Given the description of an element on the screen output the (x, y) to click on. 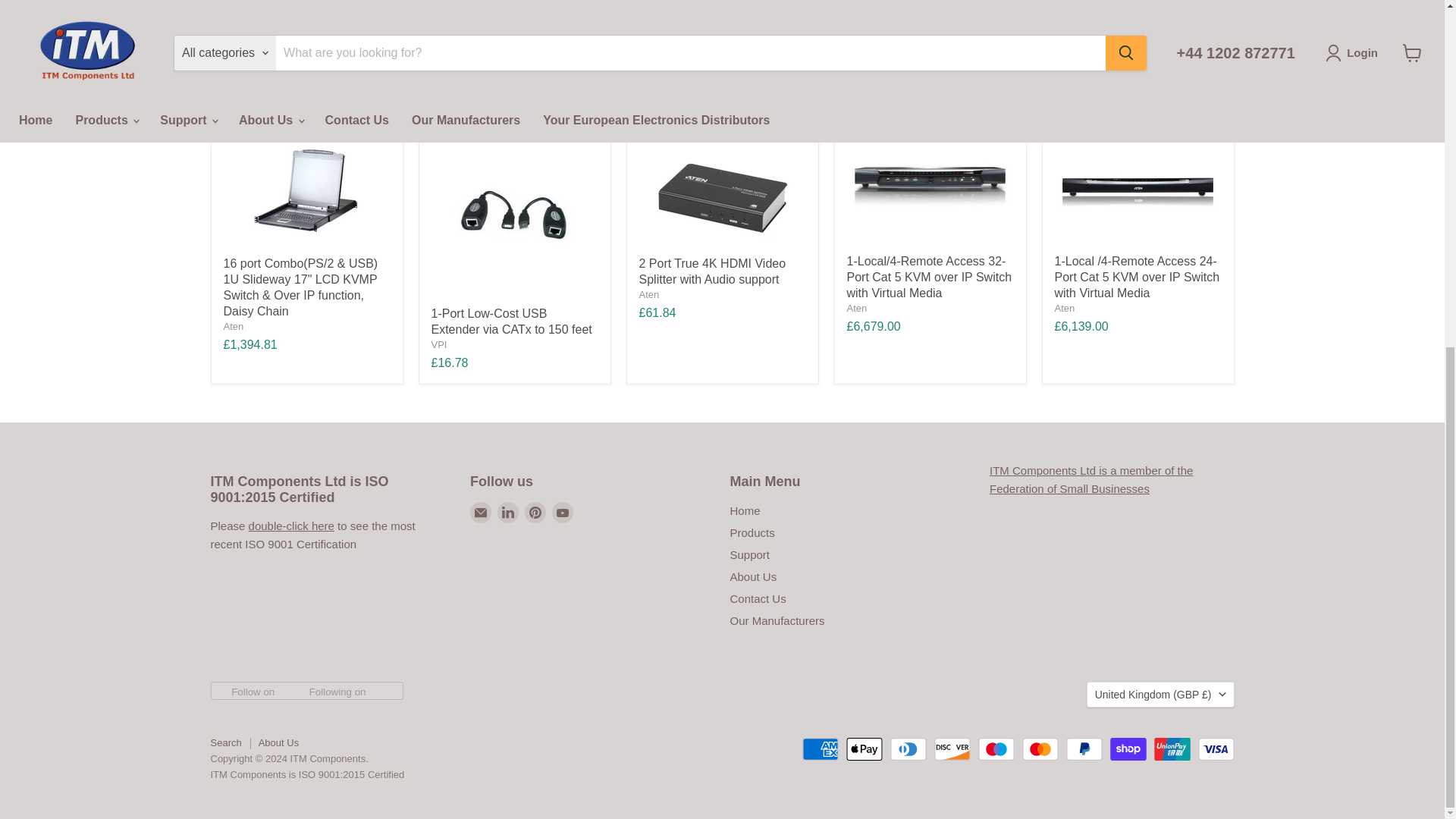
Aten (649, 294)
Aten (1064, 307)
ISO (291, 525)
VPI (438, 344)
Aten (855, 307)
Aten (232, 326)
